Given the description of an element on the screen output the (x, y) to click on. 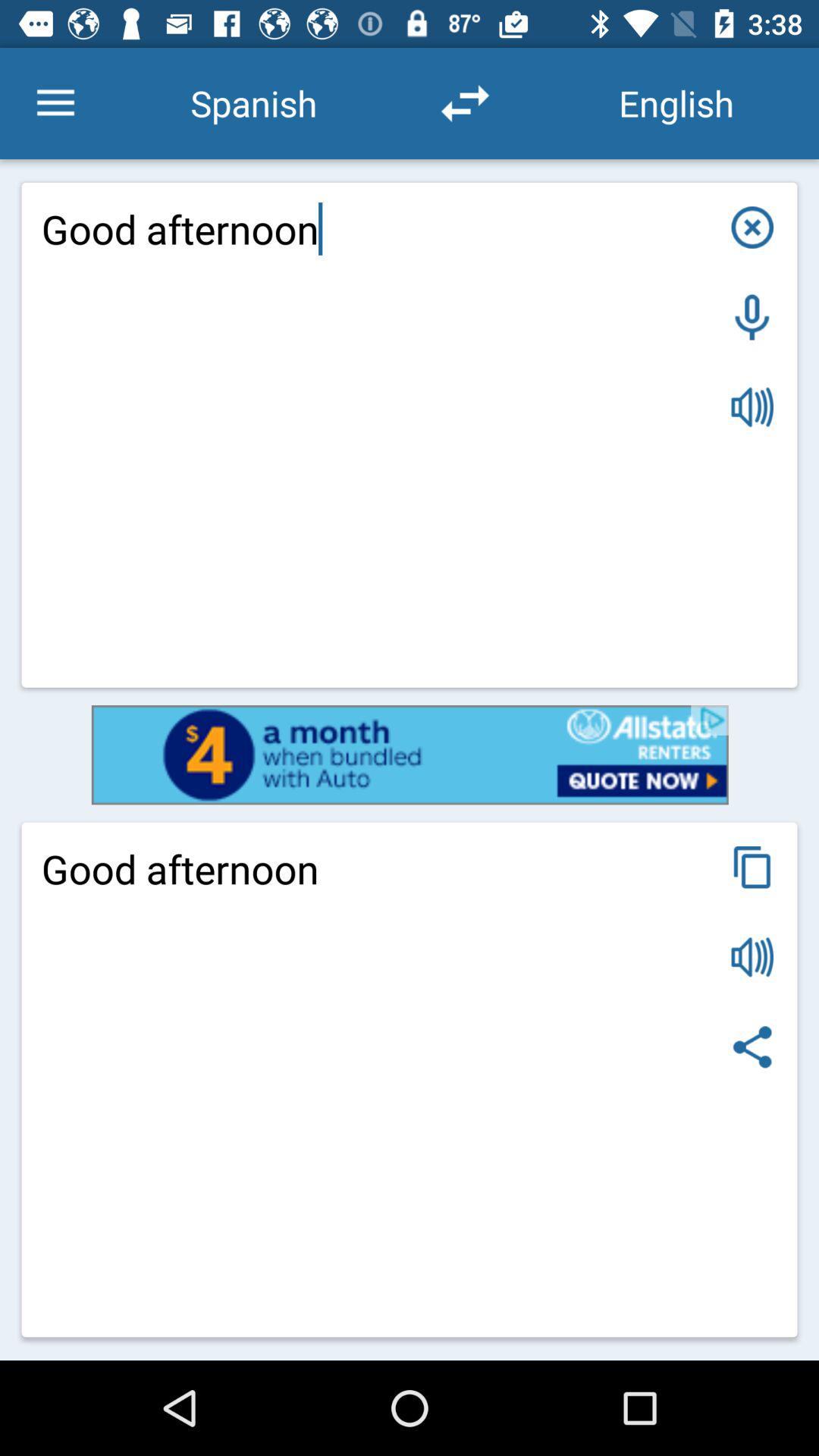
share (752, 1047)
